Given the description of an element on the screen output the (x, y) to click on. 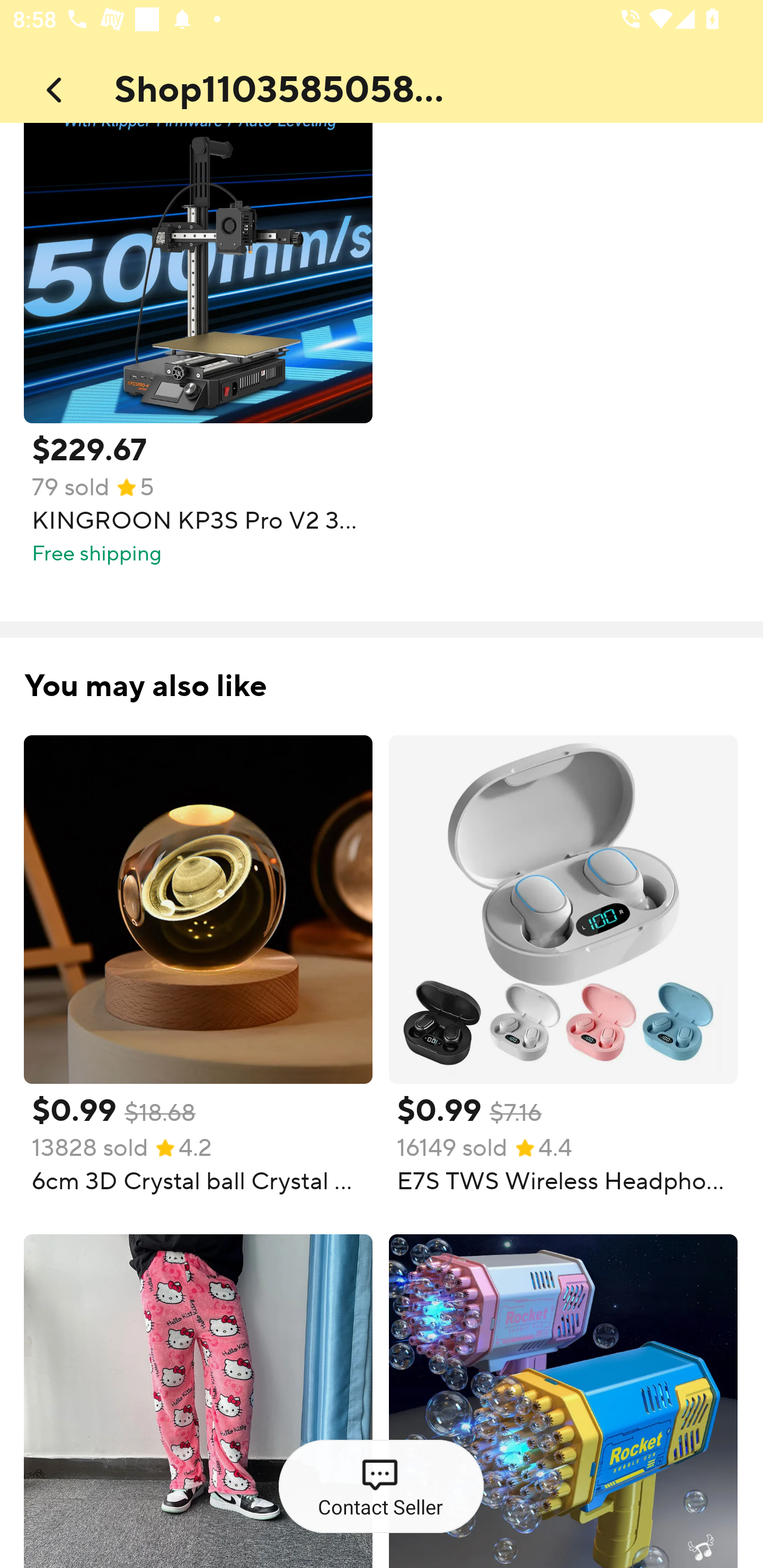
Shop1103585058… (293, 86)
Contact Seller (380, 1486)
